Given the description of an element on the screen output the (x, y) to click on. 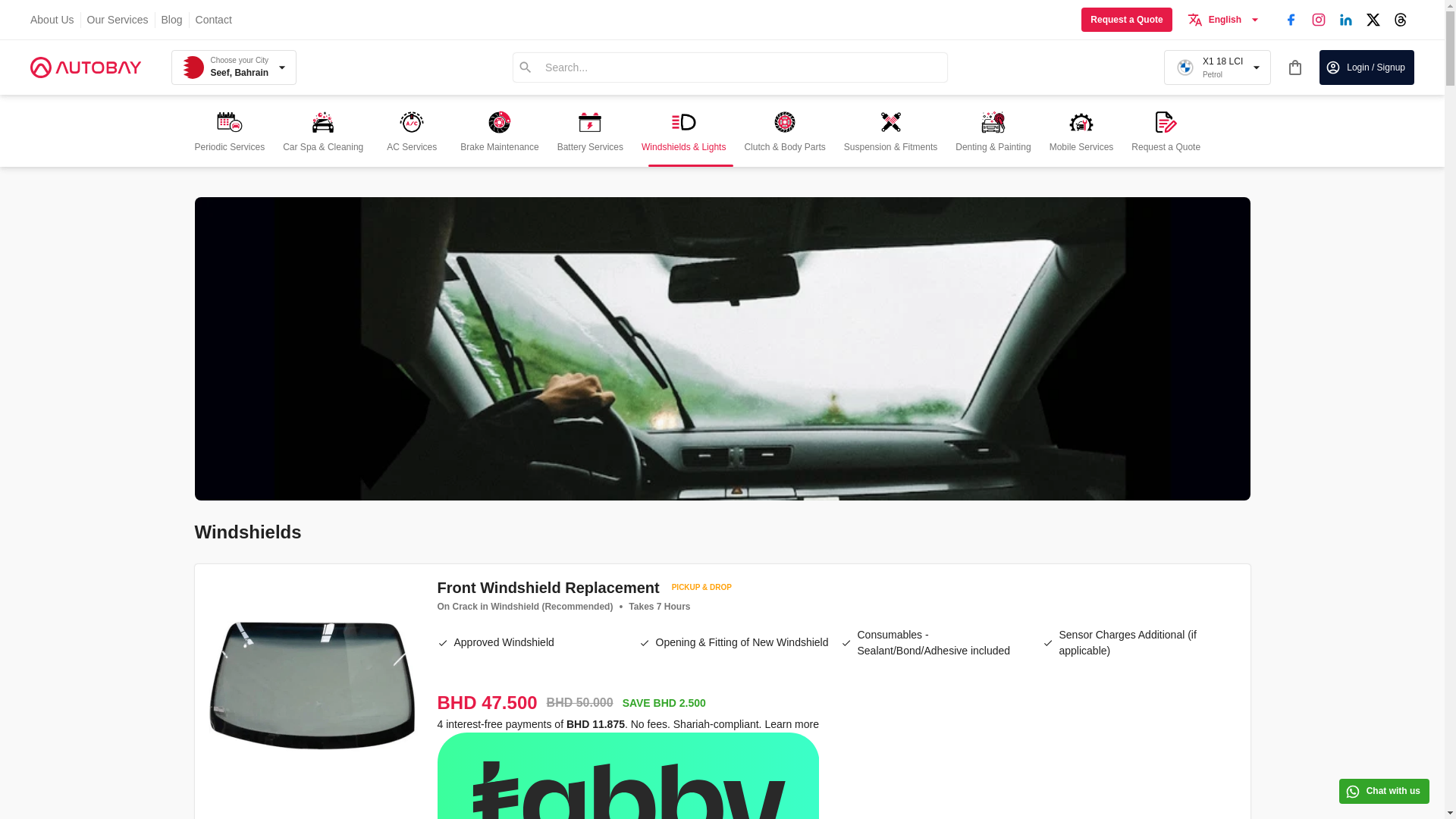
Blog (172, 19)
Brake Maintenance (499, 131)
Request a Quote (1217, 67)
Mobile Services (1165, 131)
About Us (1081, 131)
0 (52, 19)
Battery Services (1294, 67)
Contact (590, 131)
Periodic Services (213, 19)
Open (228, 131)
English (117, 19)
Request a Quote (1225, 19)
